Given the description of an element on the screen output the (x, y) to click on. 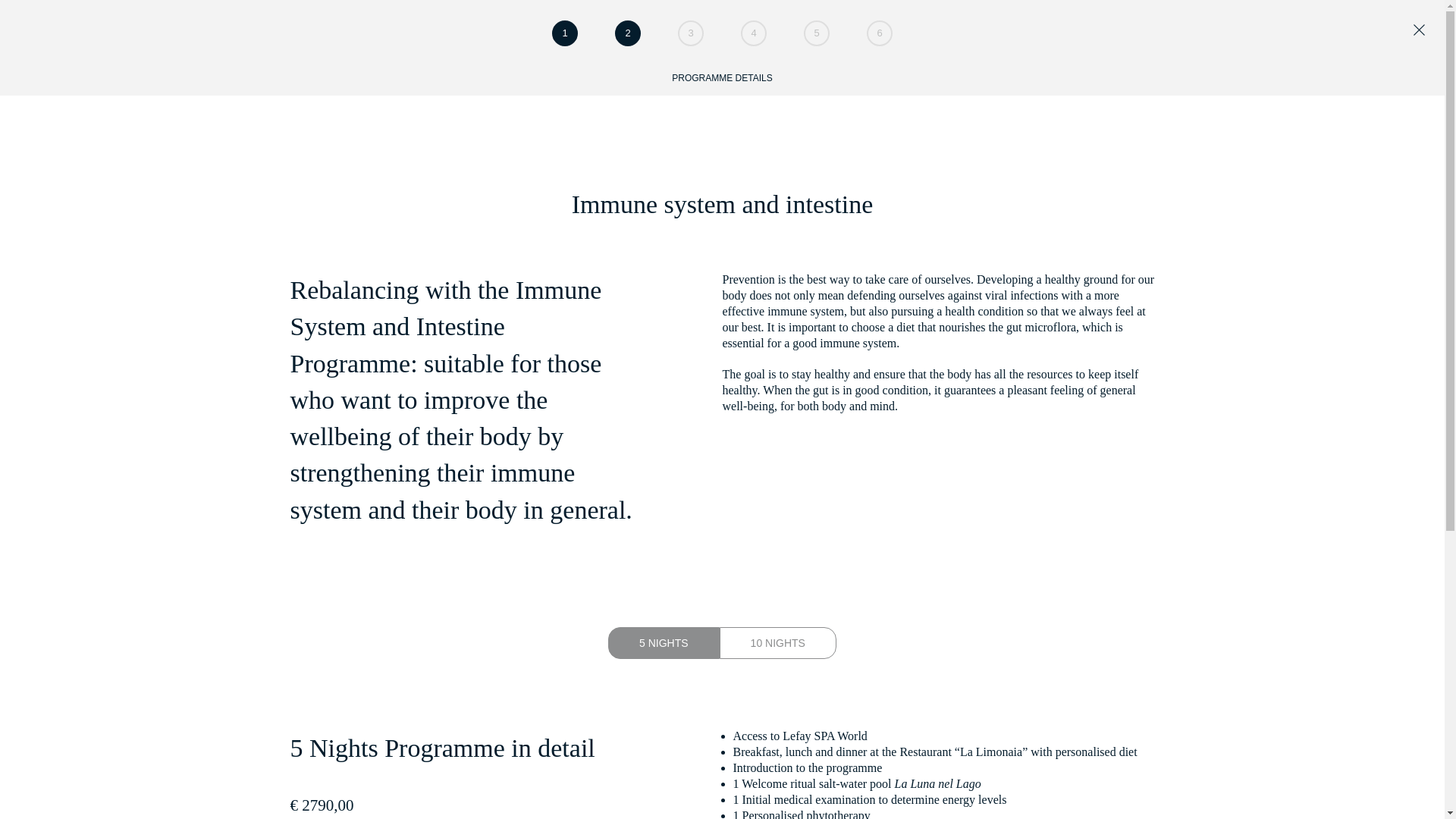
1 (564, 32)
5 NIGHTS (663, 643)
10 NIGHTS (777, 643)
